Given the description of an element on the screen output the (x, y) to click on. 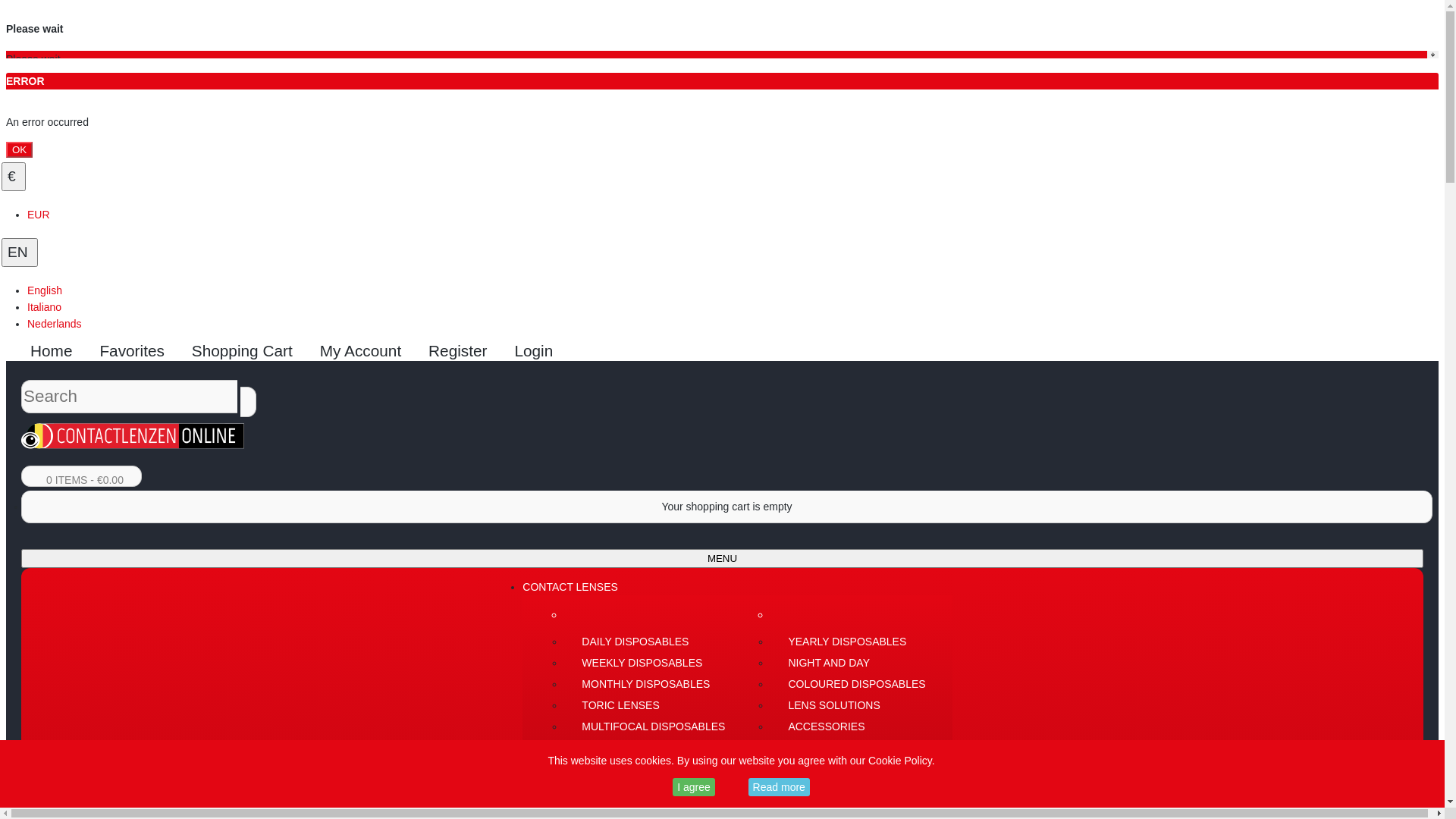
MULTIFOCAL DISPOSABLES Element type: text (652, 726)
YEARLY DISPOSABLES Element type: text (855, 641)
Italiano Element type: text (44, 307)
Favorites Element type: text (136, 350)
CONTACT LENSES Element type: text (570, 586)
OK Element type: text (19, 149)
NIGHT AND DAY Element type: text (855, 662)
EN Element type: text (19, 252)
TORIC LENSES Element type: text (652, 704)
COLOURED DISPOSABLES Element type: text (855, 683)
BRANDS Element type: text (544, 756)
Nederlands Element type: text (54, 323)
FAQ Element type: text (532, 806)
Login Element type: text (537, 350)
DAILY DISPOSABLES Element type: text (652, 641)
My Account Element type: text (365, 350)
EUR Element type: text (38, 214)
MONTHLY DISPOSABLES Element type: text (652, 683)
I agree Element type: text (693, 787)
Home Element type: text (55, 350)
LENS EXAM Element type: text (552, 773)
VIDEOS Element type: text (542, 790)
LENS SOLUTIONS Element type: text (855, 704)
English Element type: text (44, 290)
Register Element type: text (462, 350)
ACCESSORIES Element type: text (855, 726)
Shopping Cart Element type: text (246, 350)
Contactlenzen Online Element type: hover (132, 436)
Read more Element type: text (778, 787)
MENU Element type: text (722, 558)
WEEKLY DISPOSABLES Element type: text (652, 662)
